Given the description of an element on the screen output the (x, y) to click on. 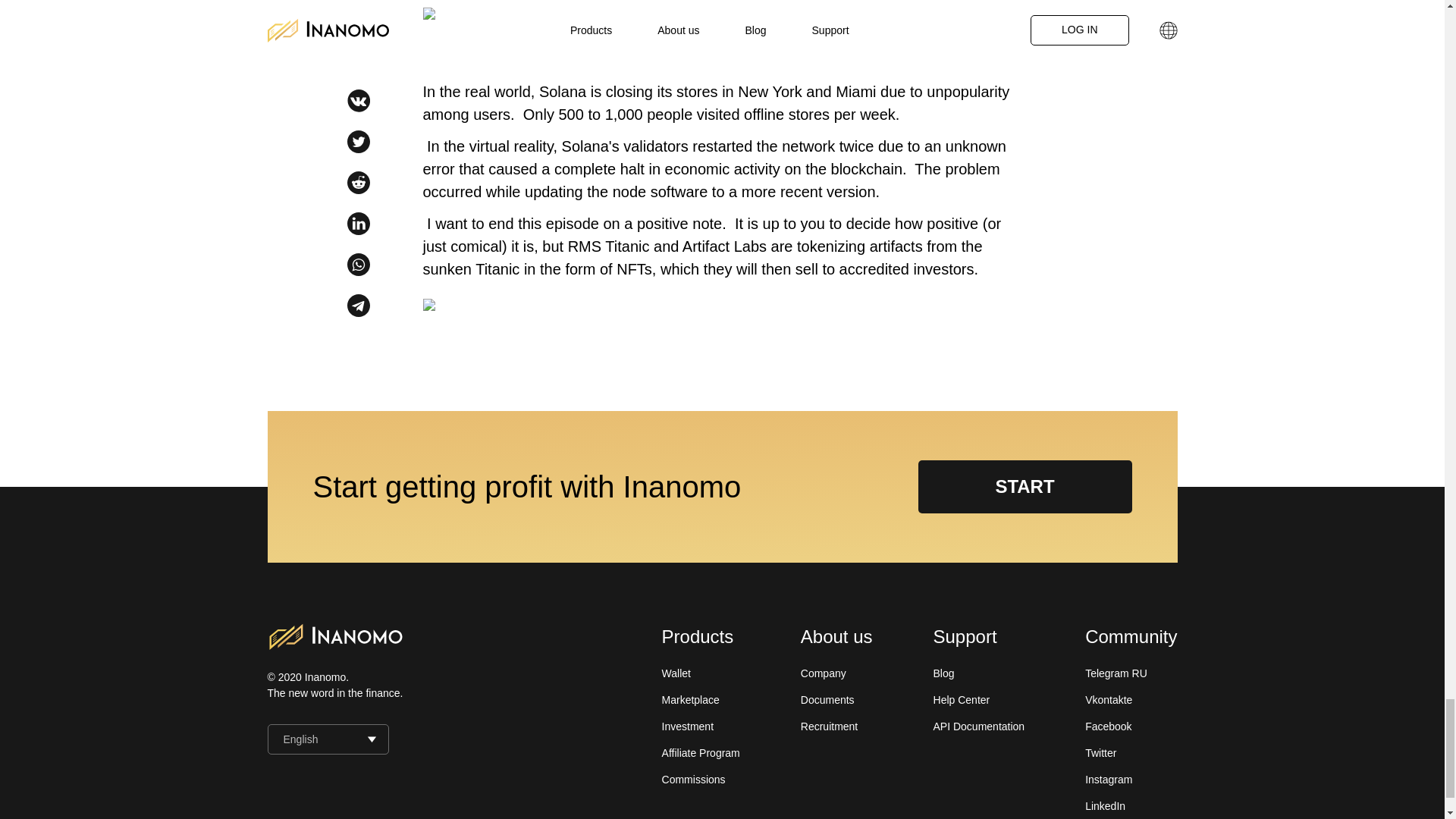
Help Center (961, 699)
Documents (827, 699)
Telegram RU (1115, 673)
API Documentation (979, 726)
Affiliate Program (700, 752)
Company (822, 673)
Investment (687, 726)
Commissions (693, 779)
Marketplace (690, 699)
START (1024, 486)
